Given the description of an element on the screen output the (x, y) to click on. 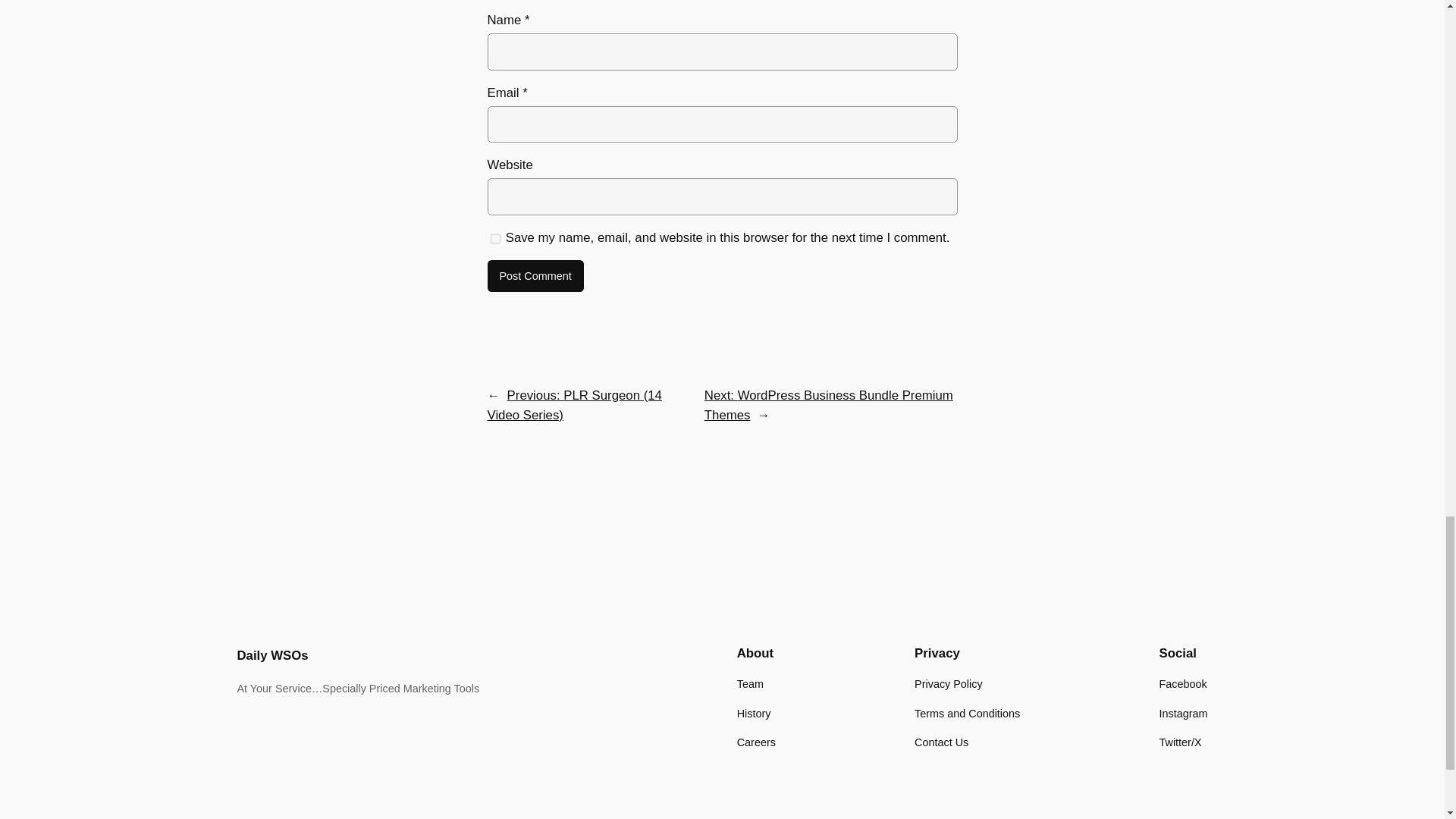
Next: WordPress Business Bundle Premium Themes (828, 405)
Careers (756, 742)
Post Comment (534, 275)
Privacy Policy (948, 683)
Instagram (1182, 713)
Daily WSOs (271, 655)
Team (749, 683)
Contact Us (941, 742)
Post Comment (534, 275)
Facebook (1182, 683)
